Given the description of an element on the screen output the (x, y) to click on. 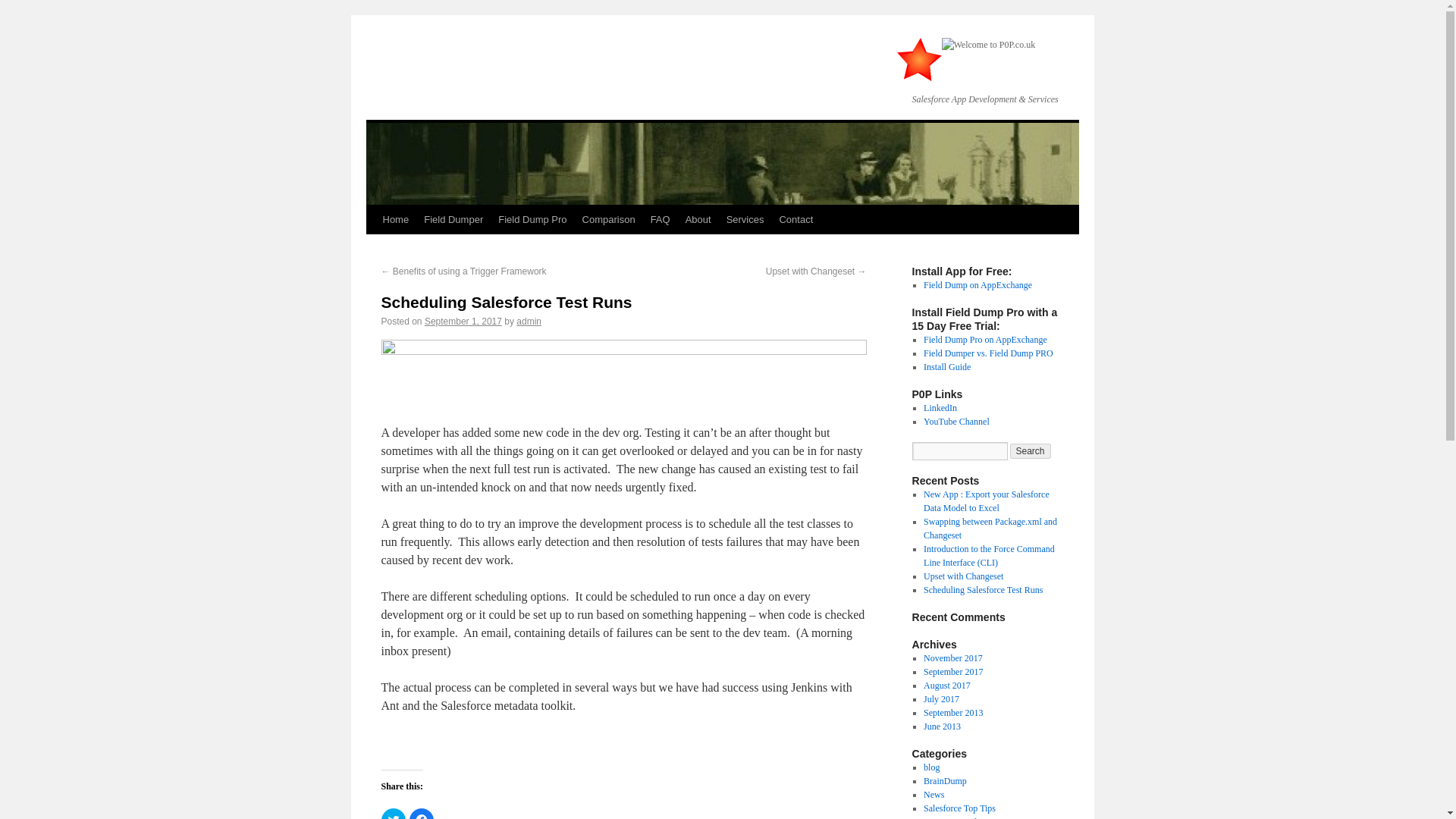
Listing in Salesforce AppExchange for Field Dump Pro (984, 339)
admin (528, 321)
Click to share on Facebook (421, 813)
FAQ (660, 219)
YouTube Channel (956, 421)
Comparison (609, 219)
Field Dump Pro on AppExchange (984, 339)
Home (395, 219)
Swapping between Package.xml and Changeset (990, 528)
Field Dump on AppExchange (977, 285)
New App : Export your Salesforce Data Model to Excel (986, 500)
Click to share on Twitter (392, 813)
Contact (796, 219)
LinkedIn (939, 407)
Install Guide (947, 366)
